Given the description of an element on the screen output the (x, y) to click on. 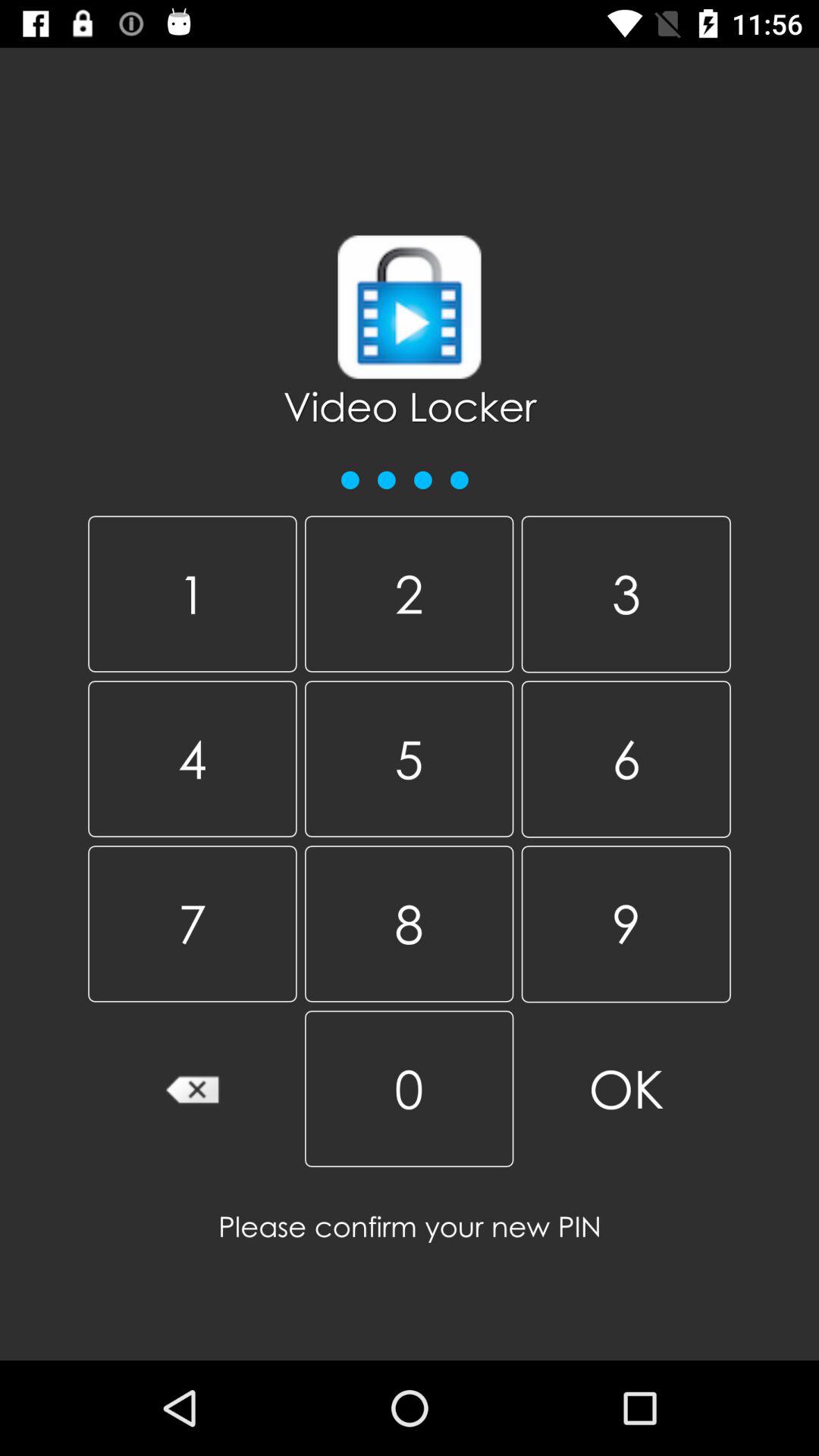
backspace entry (192, 1088)
